Given the description of an element on the screen output the (x, y) to click on. 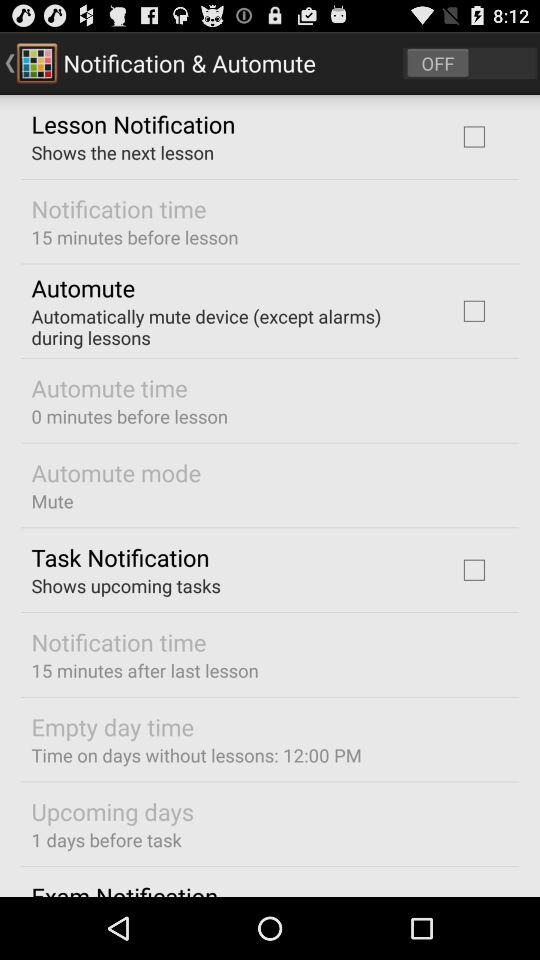
turn off time on days app (196, 754)
